Given the description of an element on the screen output the (x, y) to click on. 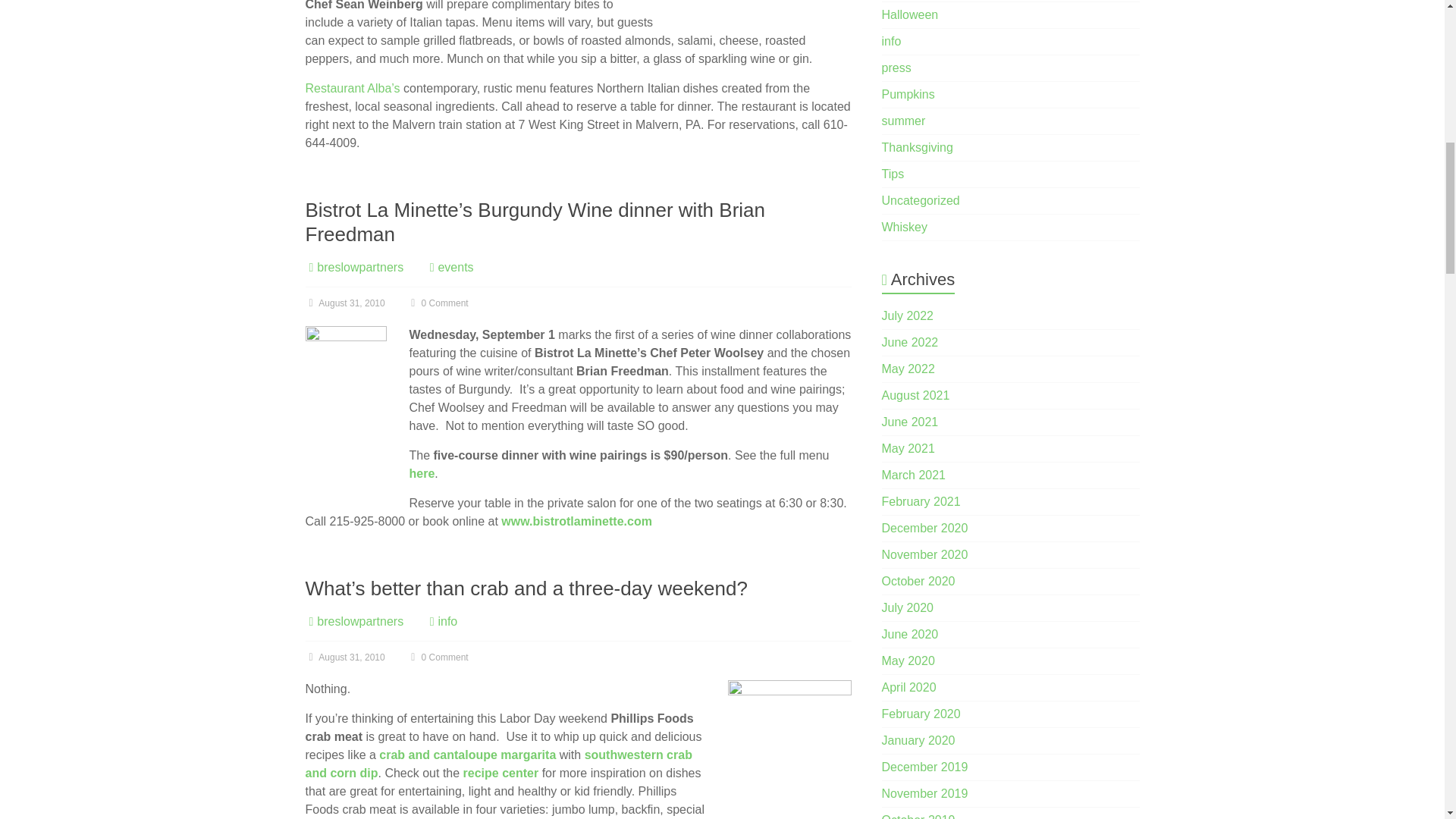
southwestern crab and corn dip (497, 763)
info (447, 621)
breslowpartners (360, 267)
here (422, 472)
recipe center (500, 772)
1:30 am (344, 656)
August 31, 2010 (344, 656)
10:56 am (344, 303)
breslowpartners (360, 267)
crab and cantaloupe margarita (467, 754)
